Given the description of an element on the screen output the (x, y) to click on. 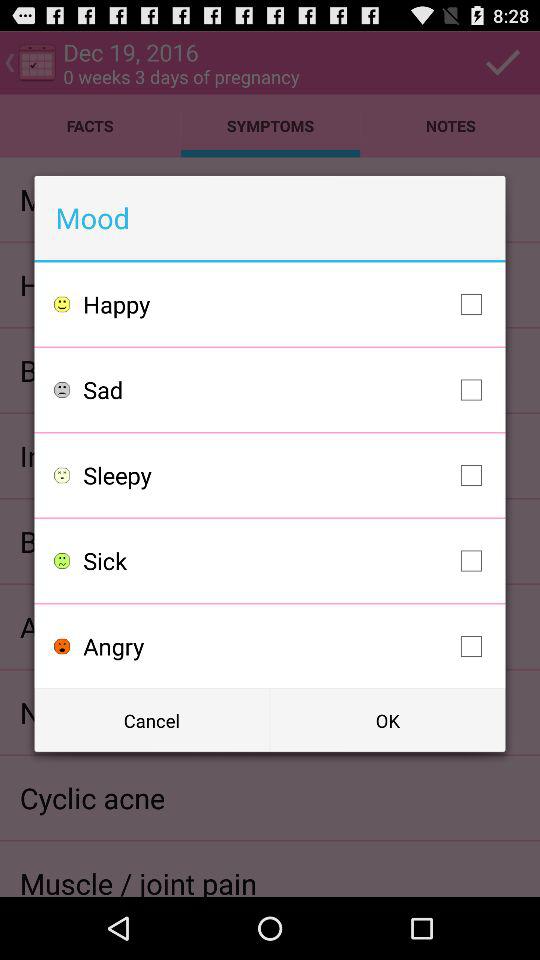
launch the item below the happy icon (287, 389)
